Given the description of an element on the screen output the (x, y) to click on. 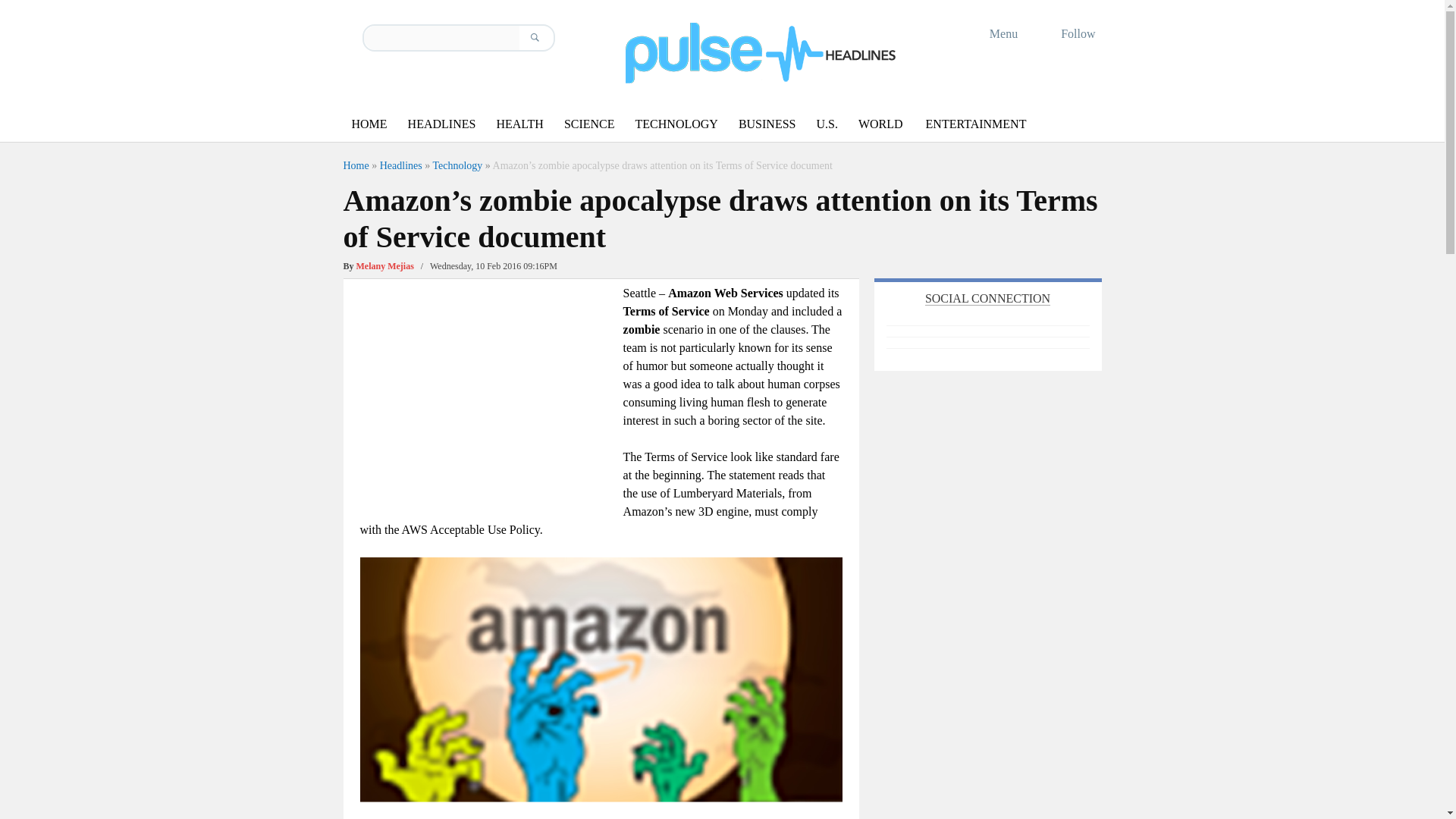
HOME (368, 123)
Technology (456, 165)
ENTERTAINMENT (975, 123)
SCIENCE (589, 123)
HEADLINES (441, 123)
Headlines (401, 165)
Melany Mejias (384, 266)
 View all posts by Melany Mejias (384, 266)
Follow (1068, 33)
TECHNOLOGY (676, 123)
Home (355, 165)
WORLD (880, 123)
Menu (993, 33)
U.S. (826, 123)
BUSINESS (767, 123)
